Given the description of an element on the screen output the (x, y) to click on. 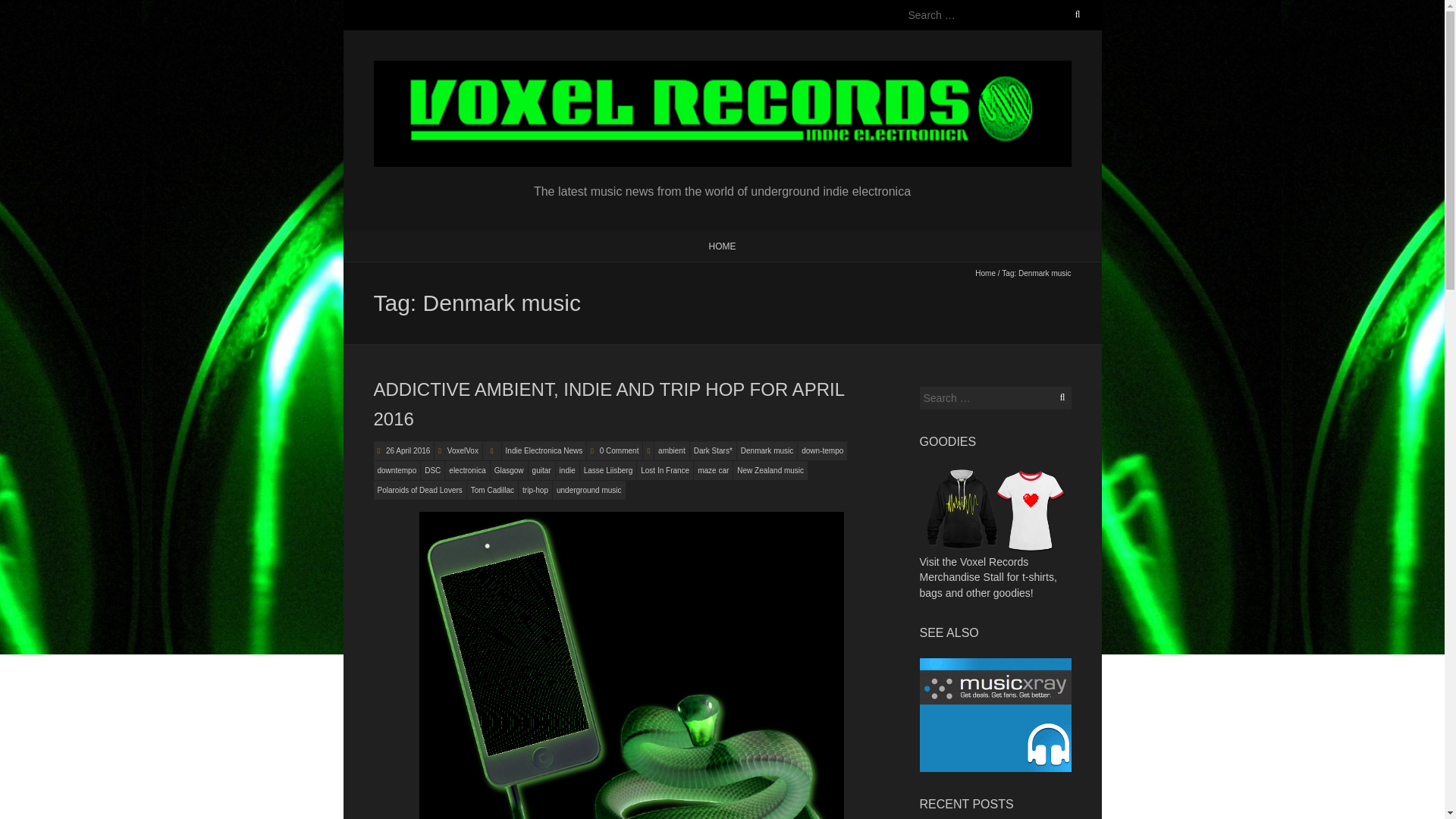
Lasse Liisberg (607, 470)
Polaroids of Dead Lovers (418, 489)
Addictive ambient, indie and trip hop for April 2016 (608, 403)
guitar (541, 470)
maze car (713, 470)
View all posts by VoxelVox (462, 450)
Category (491, 450)
0 Comment (619, 450)
ADDICTIVE AMBIENT, INDIE AND TRIP HOP FOR APRIL 2016 (608, 403)
26 April 2016 (406, 450)
